Given the description of an element on the screen output the (x, y) to click on. 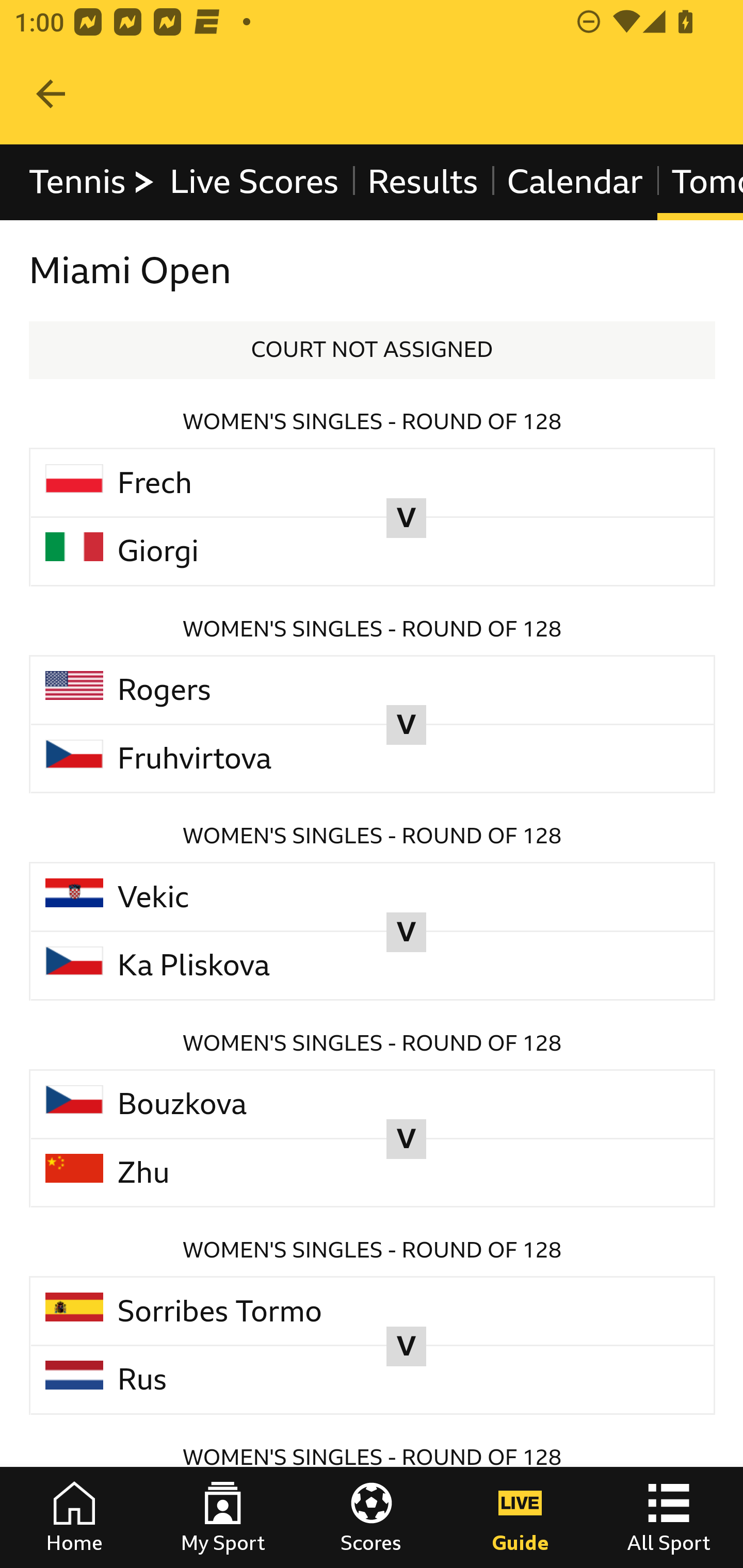
Navigate up (50, 93)
Tennis  (92, 181)
Live Scores (253, 181)
Results (422, 181)
Calendar (575, 181)
Tomorrow's Order of Play (699, 181)
Home (74, 1517)
My Sport (222, 1517)
Scores (371, 1517)
All Sport (668, 1517)
